Given the description of an element on the screen output the (x, y) to click on. 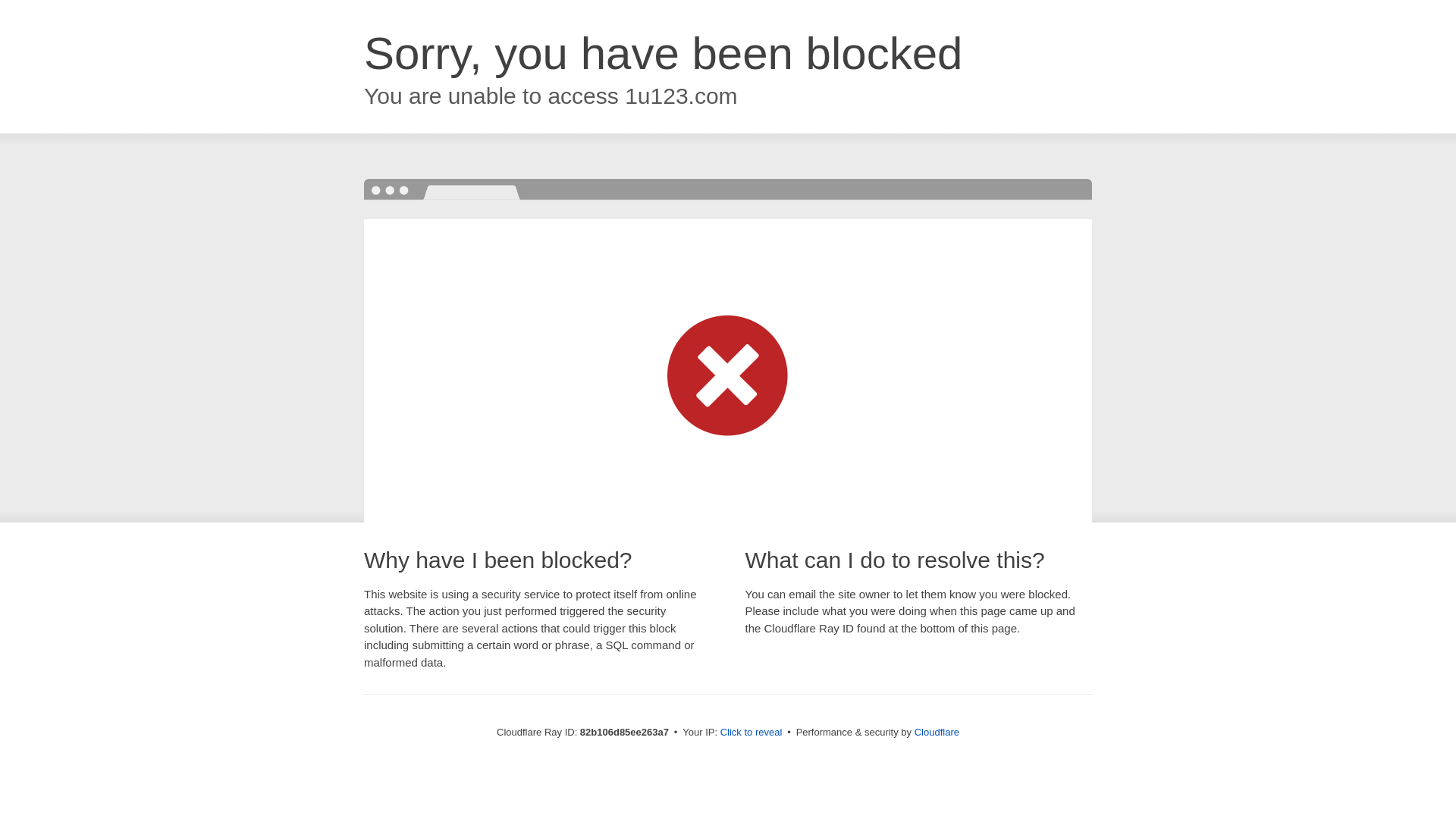
Cloudflare Element type: text (936, 731)
Click to reveal Element type: text (751, 732)
